Given the description of an element on the screen output the (x, y) to click on. 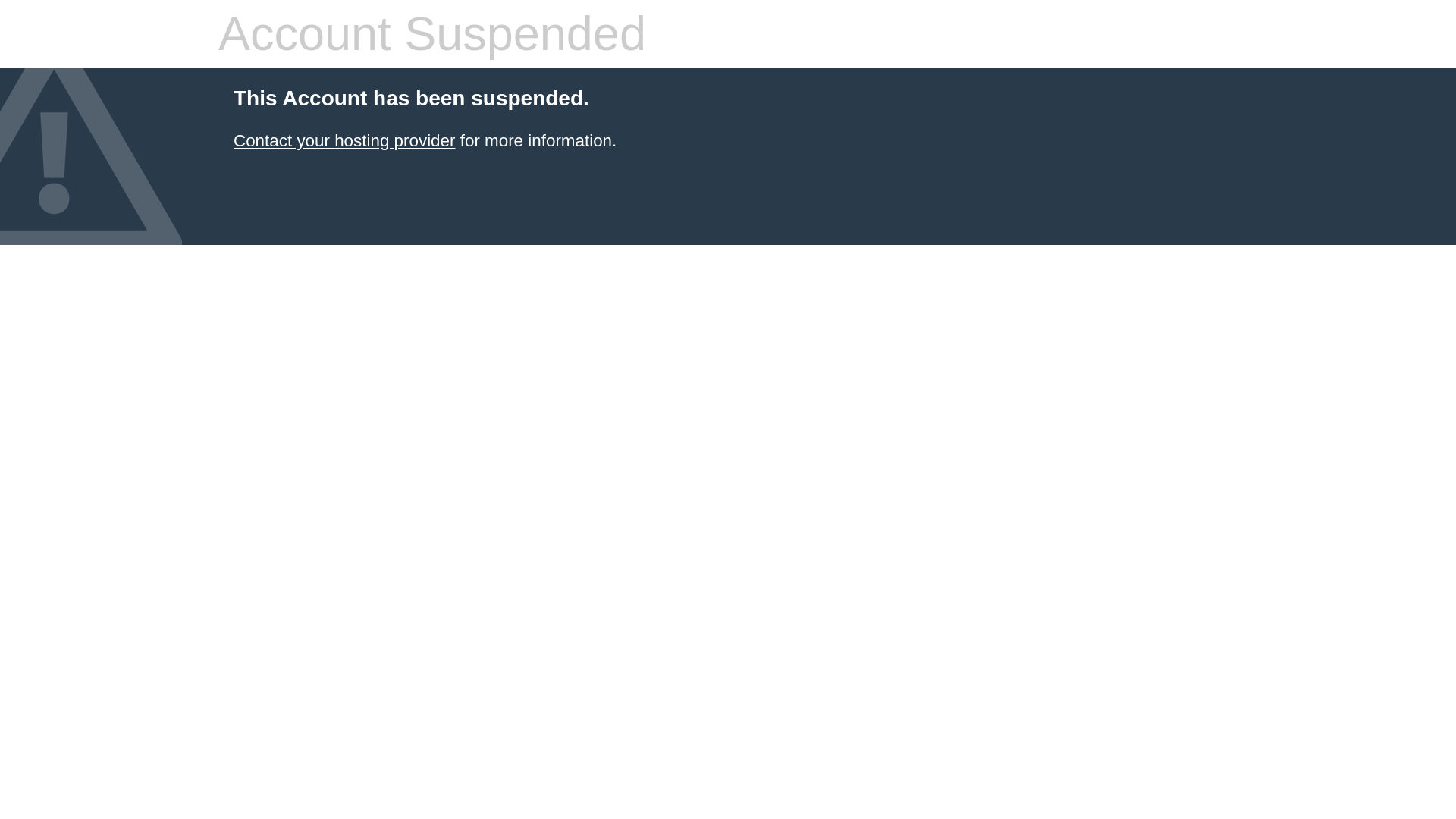
Contact your hosting provider (343, 140)
